Given the description of an element on the screen output the (x, y) to click on. 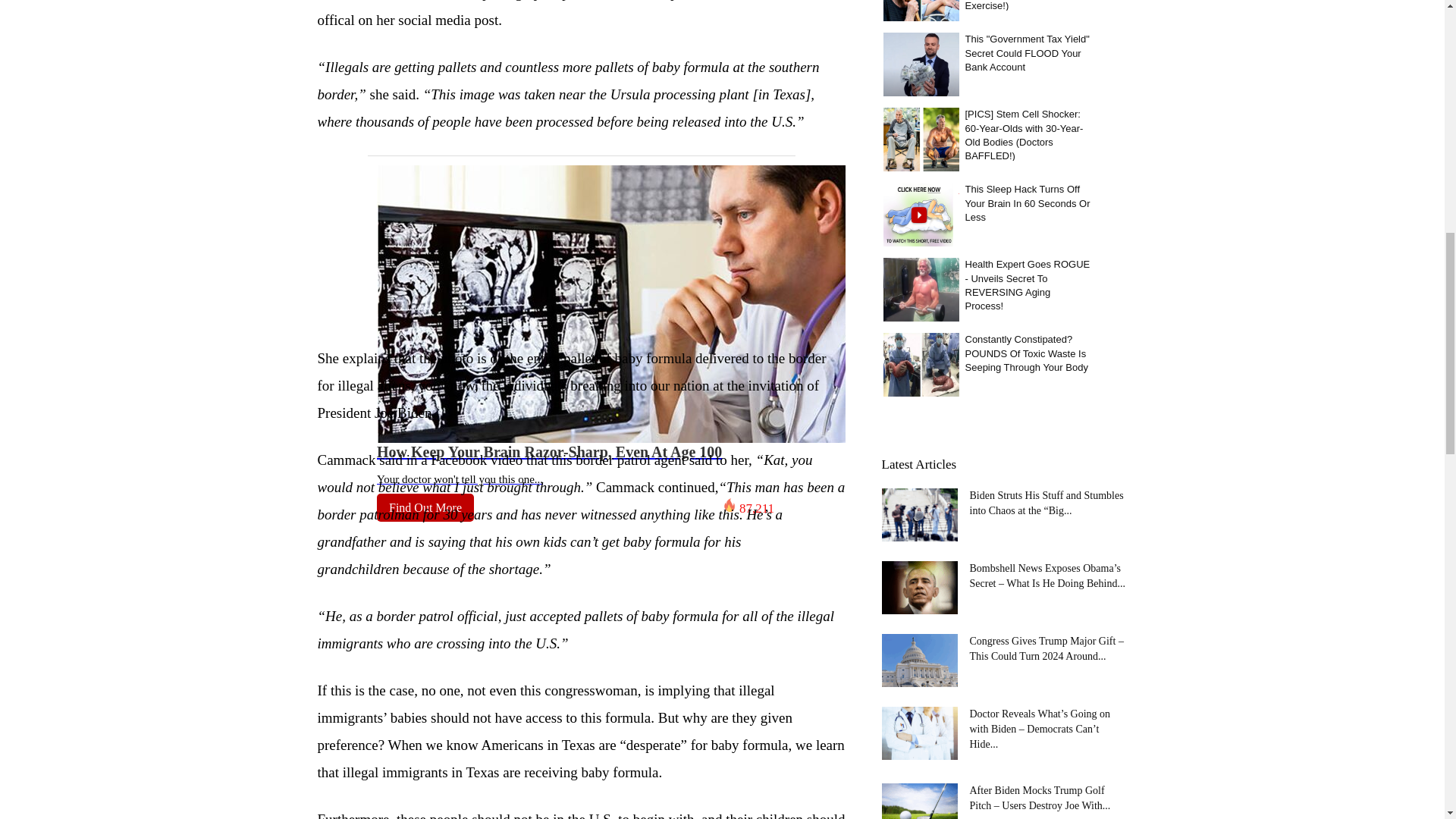
This Sleep Hack Turns Off Your Brain In 60 Seconds Or Less (920, 213)
This  (920, 63)
